Given the description of an element on the screen output the (x, y) to click on. 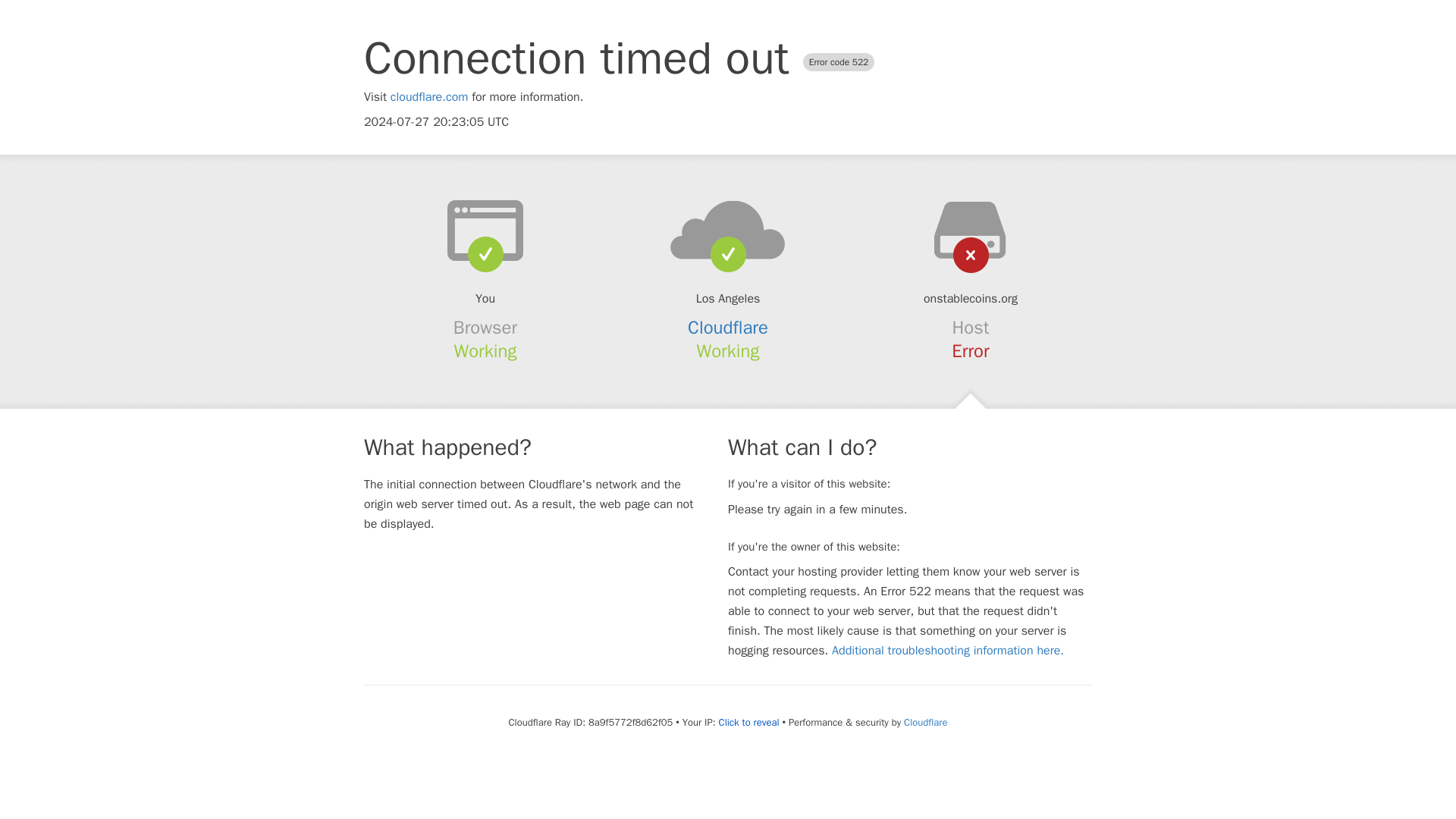
cloudflare.com (429, 96)
Click to reveal (748, 722)
Cloudflare (925, 721)
Additional troubleshooting information here. (947, 650)
Cloudflare (727, 327)
